Given the description of an element on the screen output the (x, y) to click on. 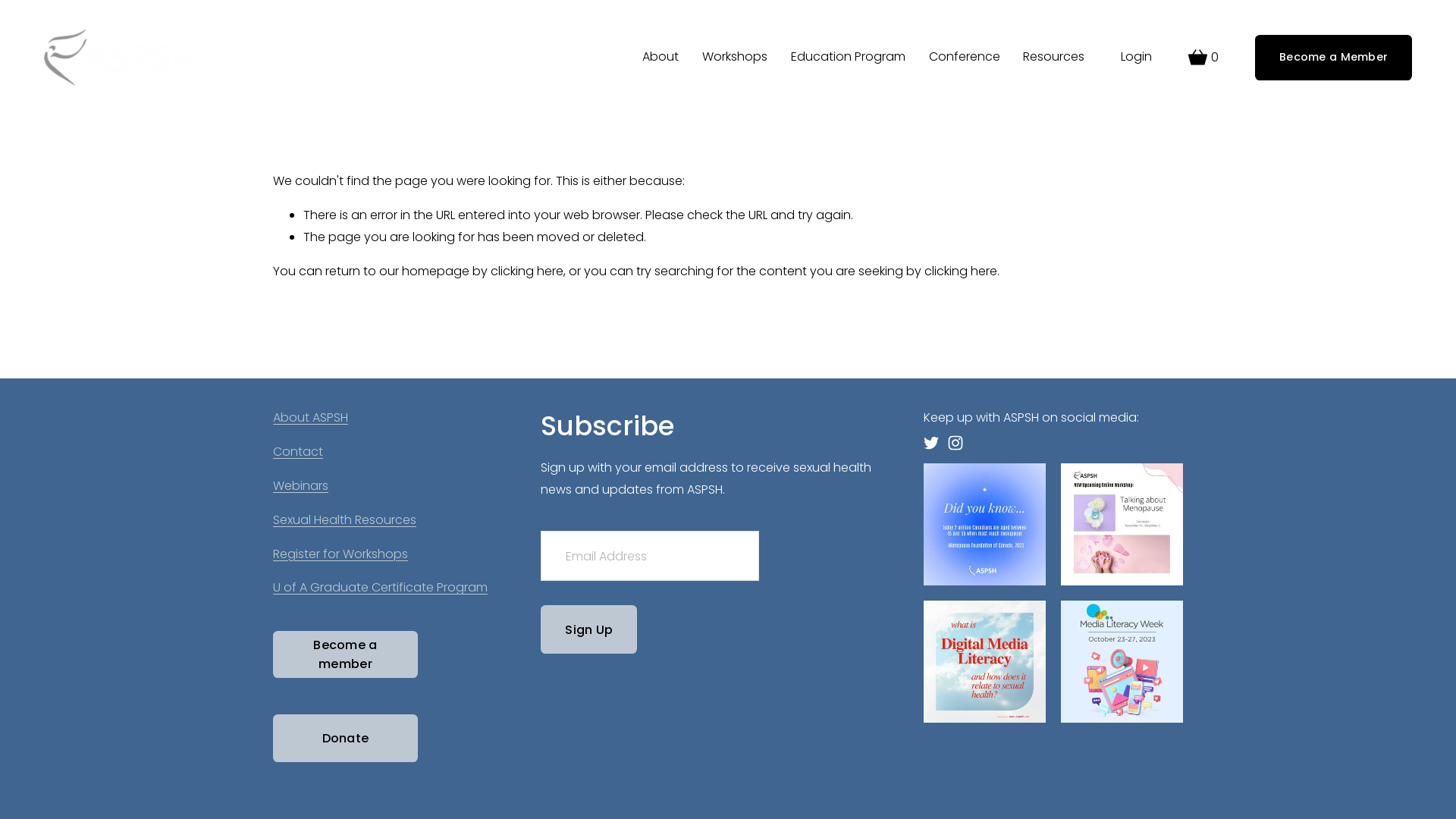
Webinars Element type: text (300, 486)
Become a Member Element type: text (1333, 56)
Contact Element type: text (298, 452)
Register for Workshops Element type: text (340, 554)
Become a member Element type: text (345, 654)
Login Element type: text (1135, 57)
Education Program Element type: text (847, 57)
Sign Up Element type: text (588, 629)
U of A Graduate Certificate Program Element type: text (380, 588)
About ASPSH Element type: text (310, 418)
clicking here Element type: text (526, 270)
0 Element type: text (1203, 56)
Workshops Element type: text (734, 57)
Resources Element type: text (1053, 57)
About Element type: text (660, 57)
Sexual Health Resources Element type: text (344, 520)
Donate Element type: text (345, 738)
clicking here Element type: text (960, 270)
Conference Element type: text (964, 57)
